Given the description of an element on the screen output the (x, y) to click on. 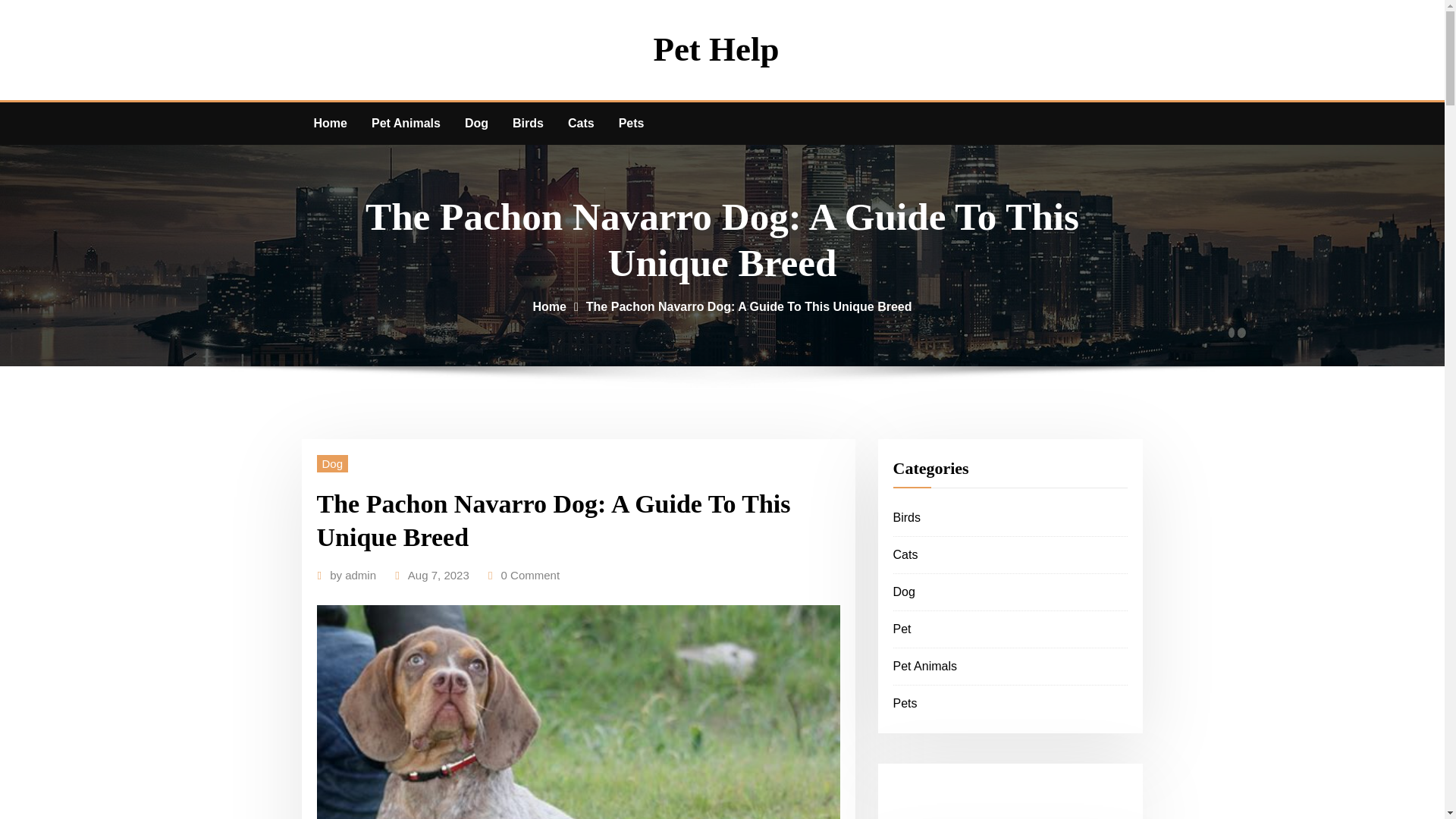
Dog (333, 463)
Pet Animals (405, 123)
Home (549, 306)
Cats (581, 123)
Birds (906, 517)
Cats (905, 554)
0 Comment (530, 575)
by admin (352, 575)
Pets (905, 703)
Aug 7, 2023 (437, 575)
Dog (476, 123)
Pets (631, 123)
Pet Animals (924, 666)
The Pachon Navarro Dog: A Guide To This Unique Breed (749, 306)
Birds (528, 123)
